Given the description of an element on the screen output the (x, y) to click on. 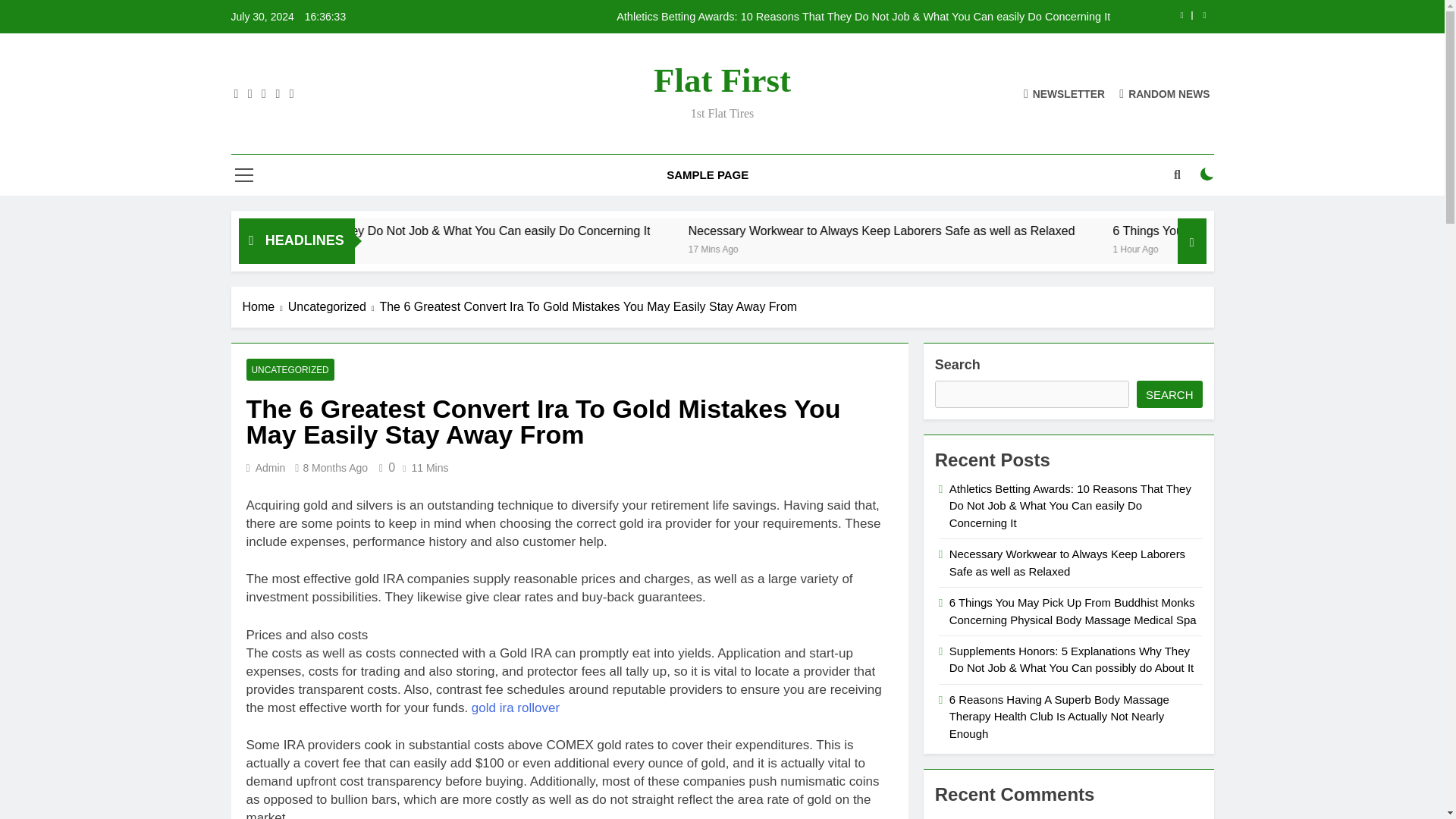
RANDOM NEWS (1164, 92)
17 Mins Ago (927, 247)
on (1206, 173)
11 Mins Ago (349, 247)
Flat First (721, 80)
NEWSLETTER (1064, 92)
SAMPLE PAGE (707, 174)
